Given the description of an element on the screen output the (x, y) to click on. 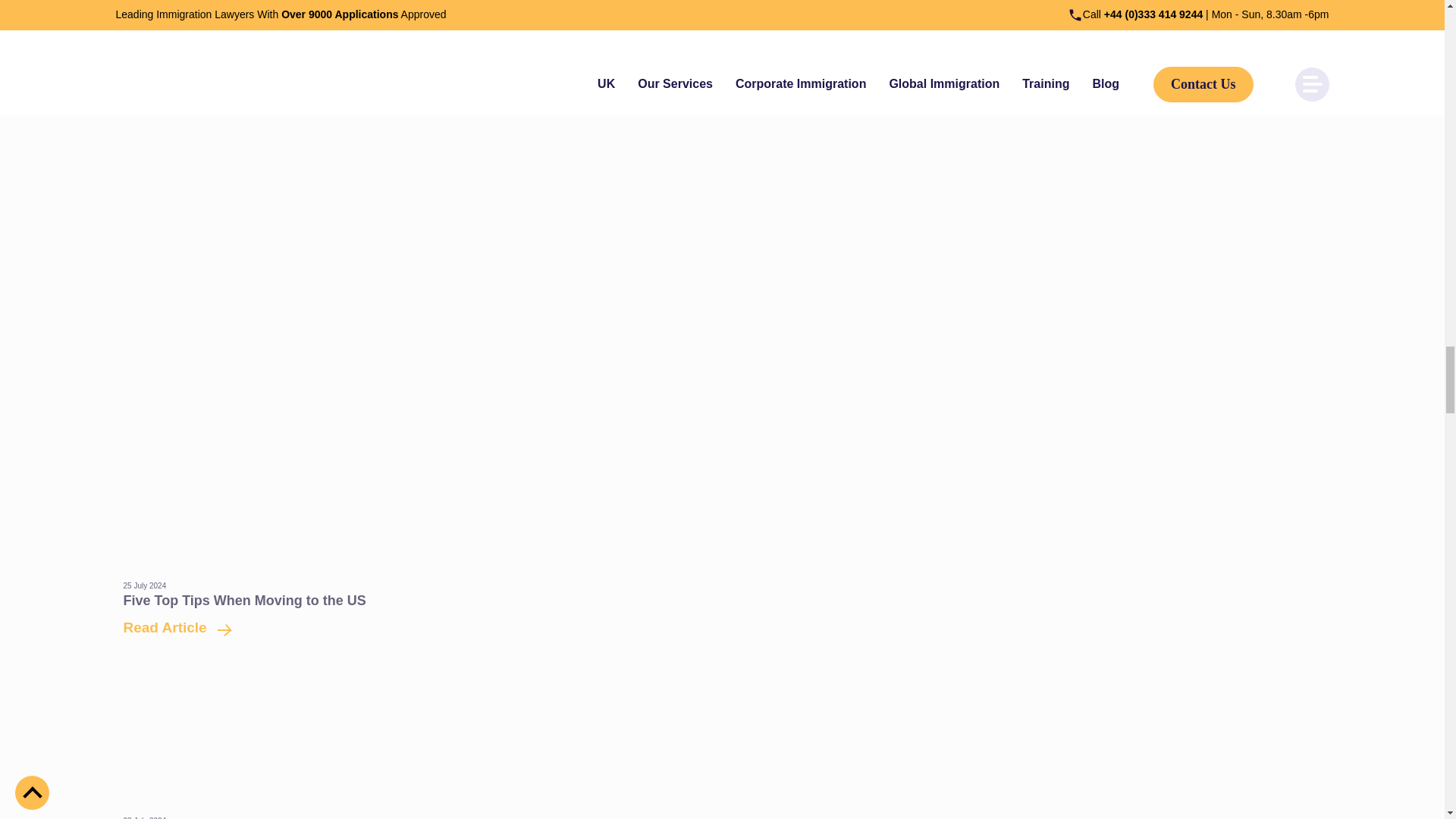
Appendix D Sponsor Licence Records Guidance (171, 64)
Appendix D Sponsor Licence Records Guidance (721, 8)
Appendix D Sponsor Licence Records Guidance (279, 37)
Five Top Tips When Moving to the US (171, 627)
Five Top Tips When Moving to the US (243, 600)
